Given the description of an element on the screen output the (x, y) to click on. 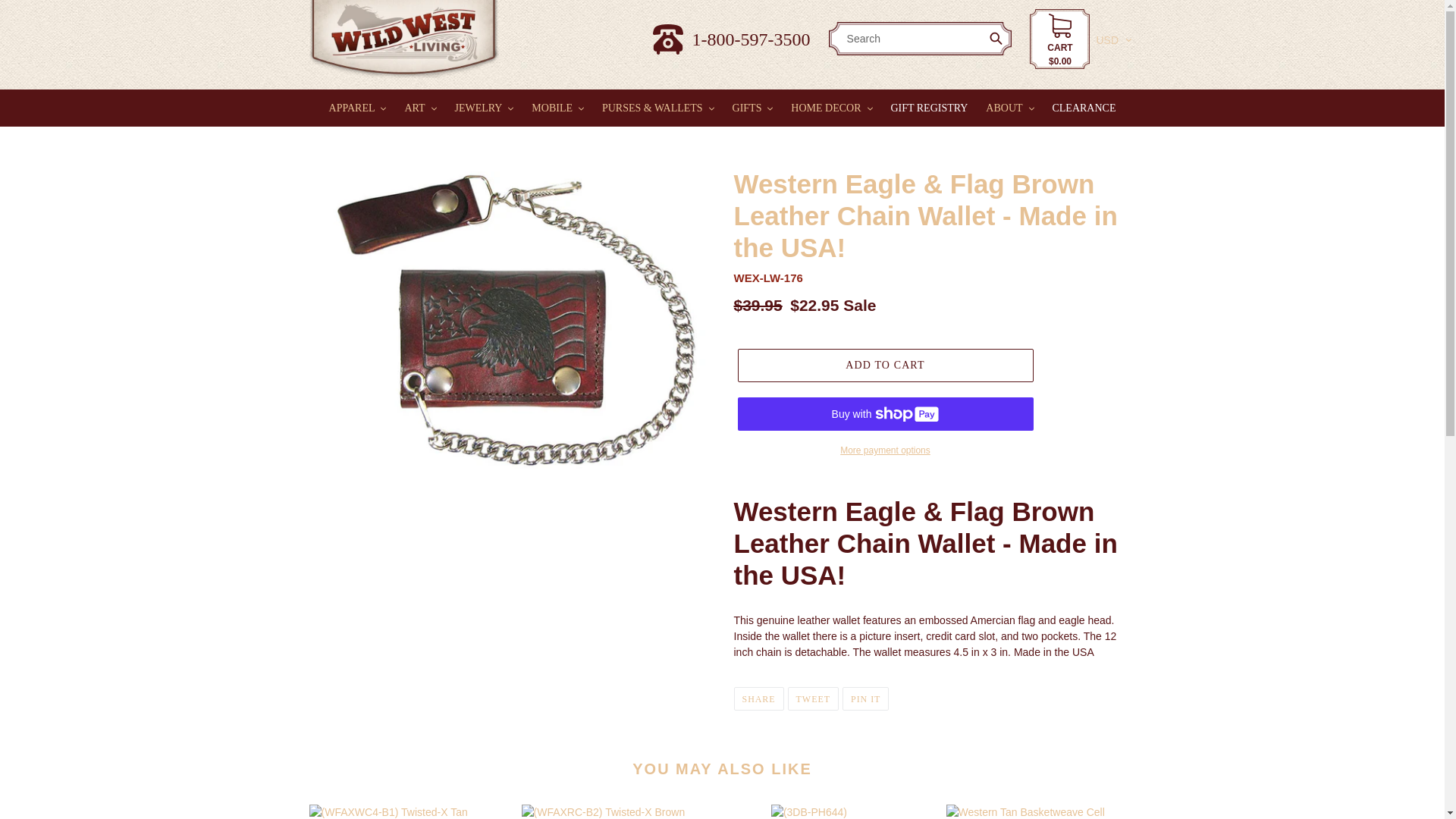
1-800-597-3500 (731, 39)
Search (999, 39)
